Given the description of an element on the screen output the (x, y) to click on. 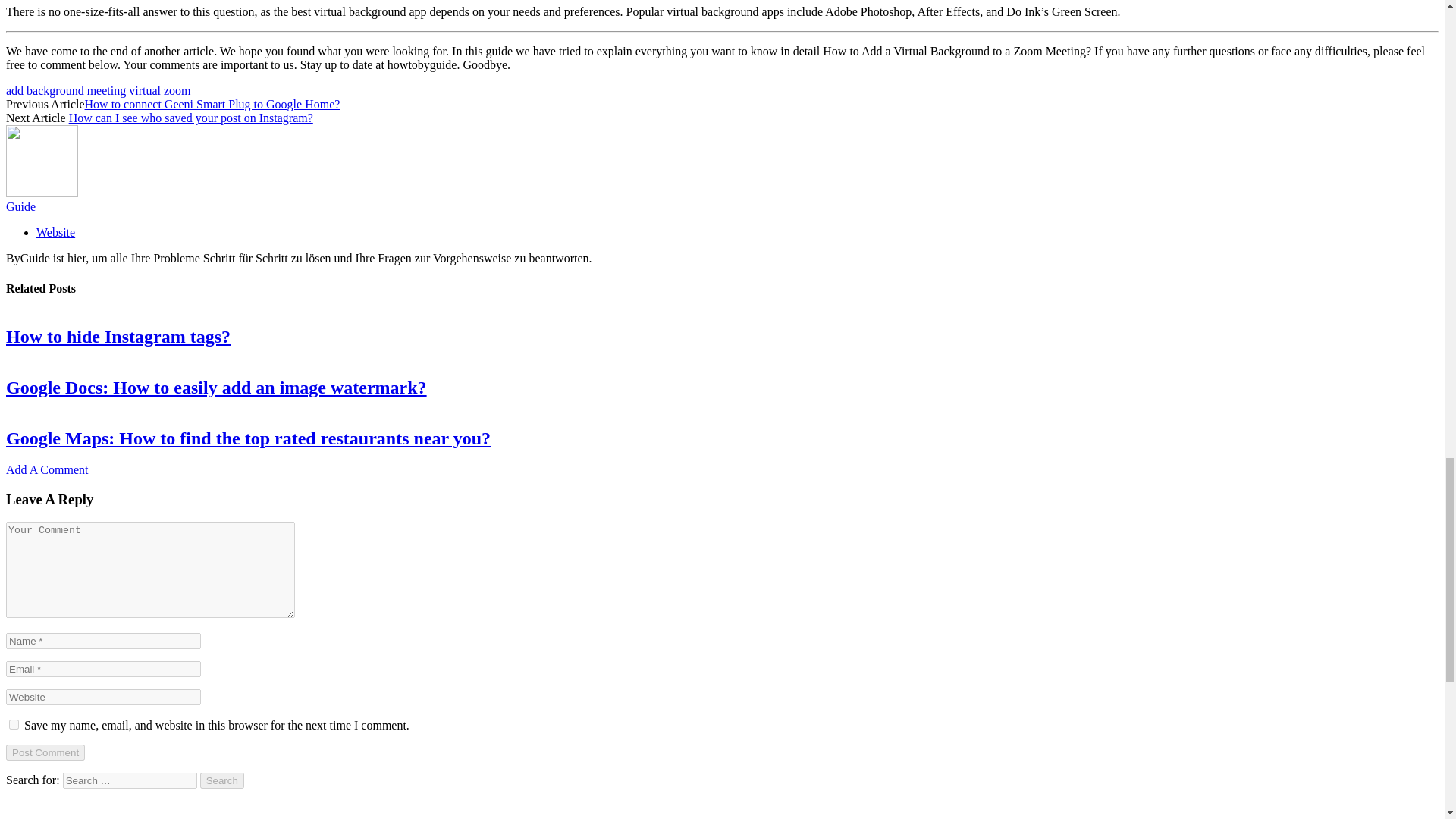
add (14, 90)
Search (222, 780)
Post Comment (44, 752)
zoom (176, 90)
Search (222, 780)
meeting (106, 90)
yes (13, 724)
Website (55, 232)
Posts by Guide (19, 205)
background (55, 90)
virtual (144, 90)
